Given the description of an element on the screen output the (x, y) to click on. 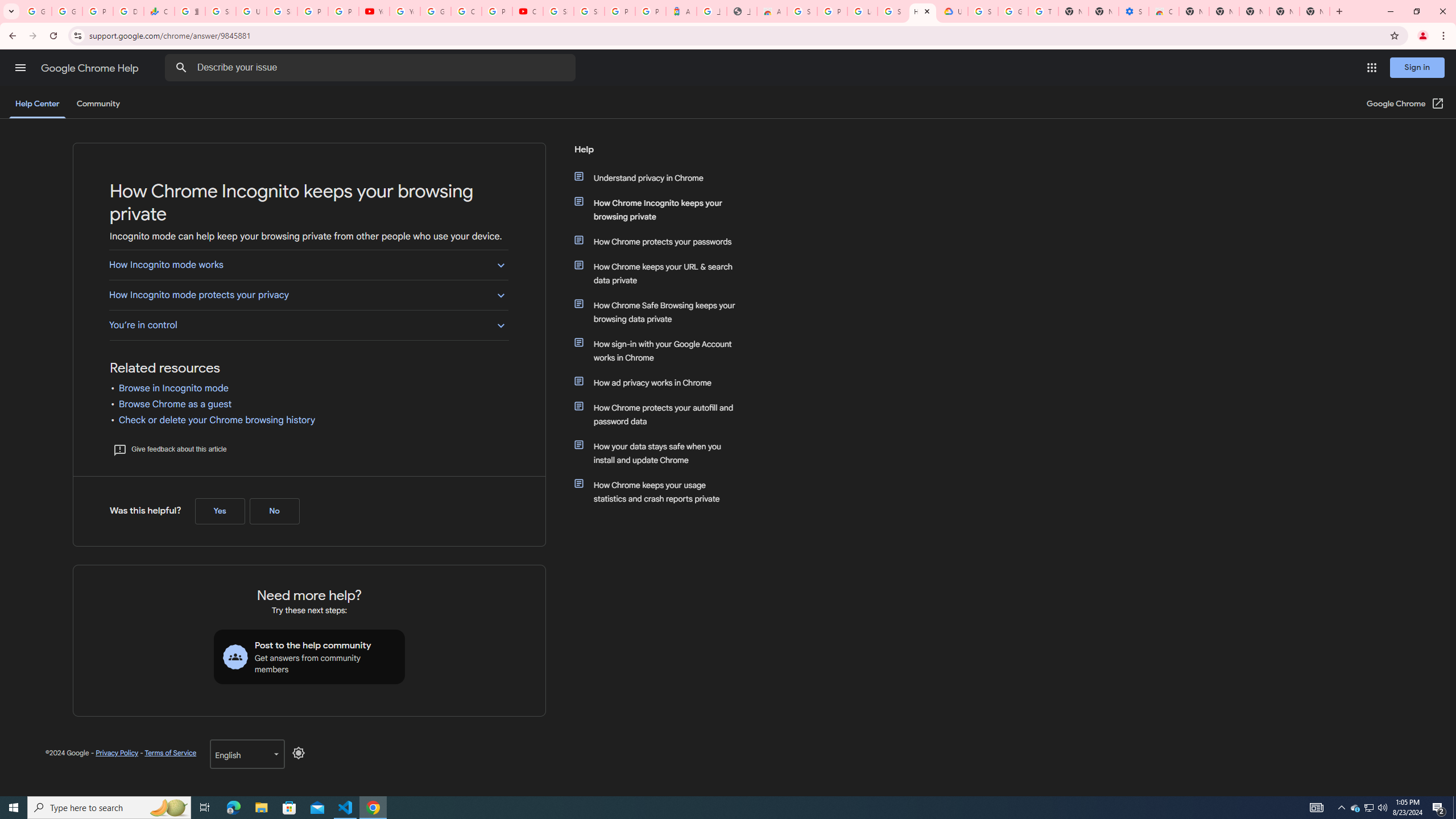
How Chrome protects your autofill and password data (661, 414)
Give feedback about this article (169, 449)
Google Account Help (434, 11)
How Chrome protects your passwords (661, 241)
Sign in - Google Accounts (801, 11)
How Chrome Safe Browsing keeps your browsing data private (661, 312)
